Given the description of an element on the screen output the (x, y) to click on. 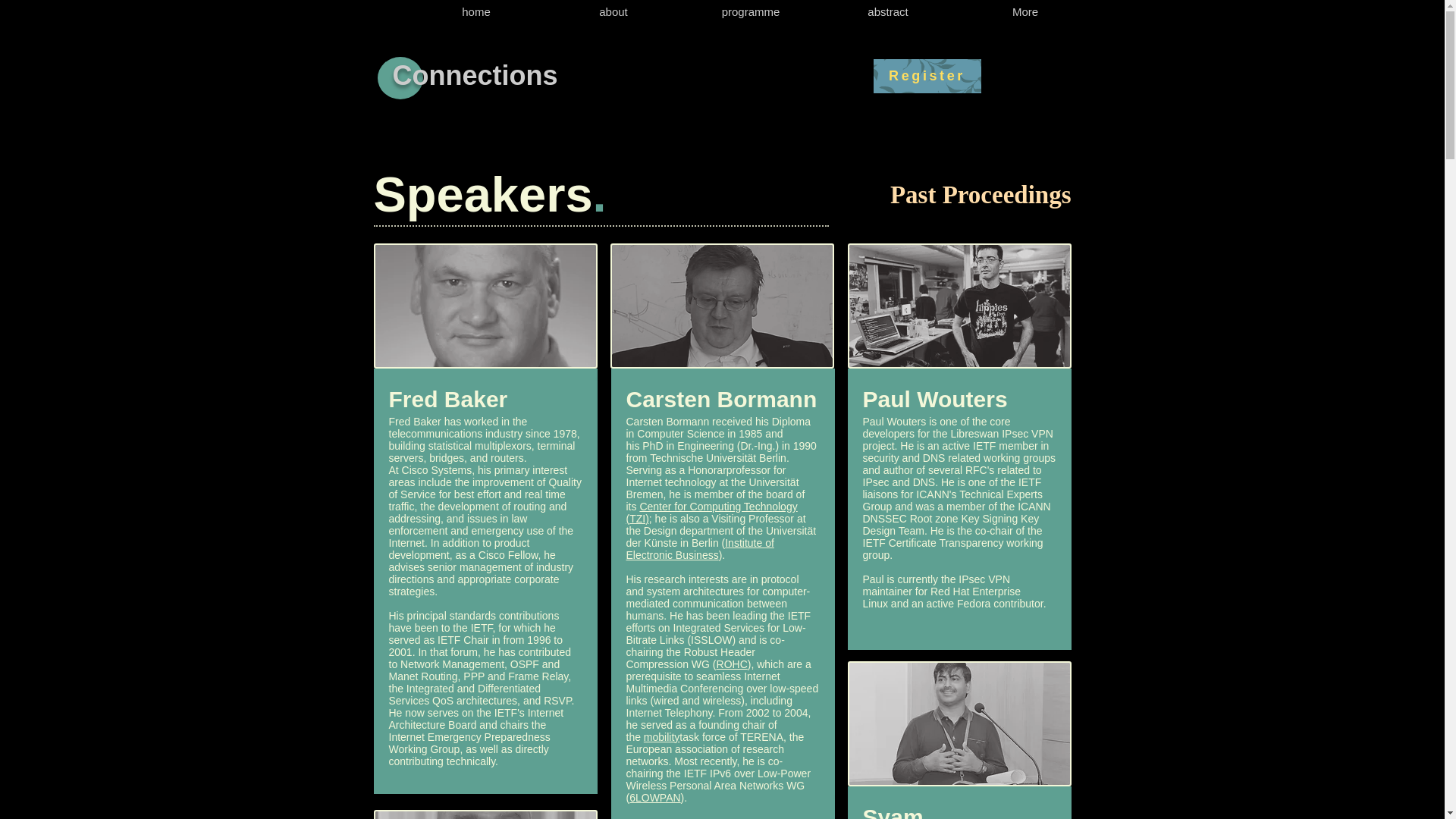
ROHC (732, 664)
Register (927, 75)
mobility (661, 736)
home (475, 11)
programme (750, 11)
6LOWPAN (653, 797)
Institute of Electronic Business (700, 549)
abstract (887, 11)
Connections (475, 74)
about (612, 11)
